Given the description of an element on the screen output the (x, y) to click on. 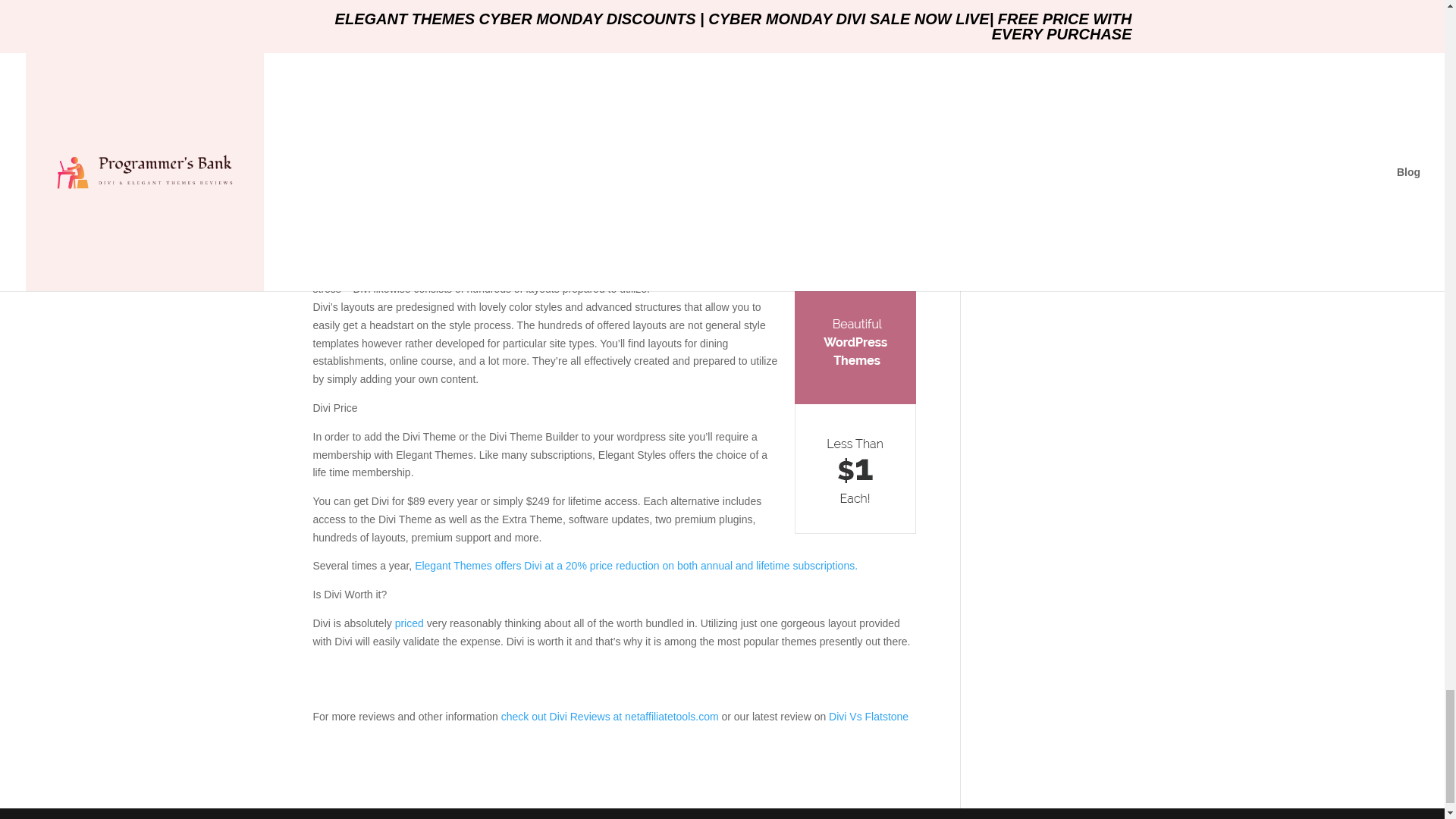
Divi Vs Flatsome (866, 716)
check out Divi Reviews at netaffiliatetools.com (609, 716)
Divi Vs Flatstone (866, 716)
priced (408, 623)
Divi Page Builder (374, 253)
